Given the description of an element on the screen output the (x, y) to click on. 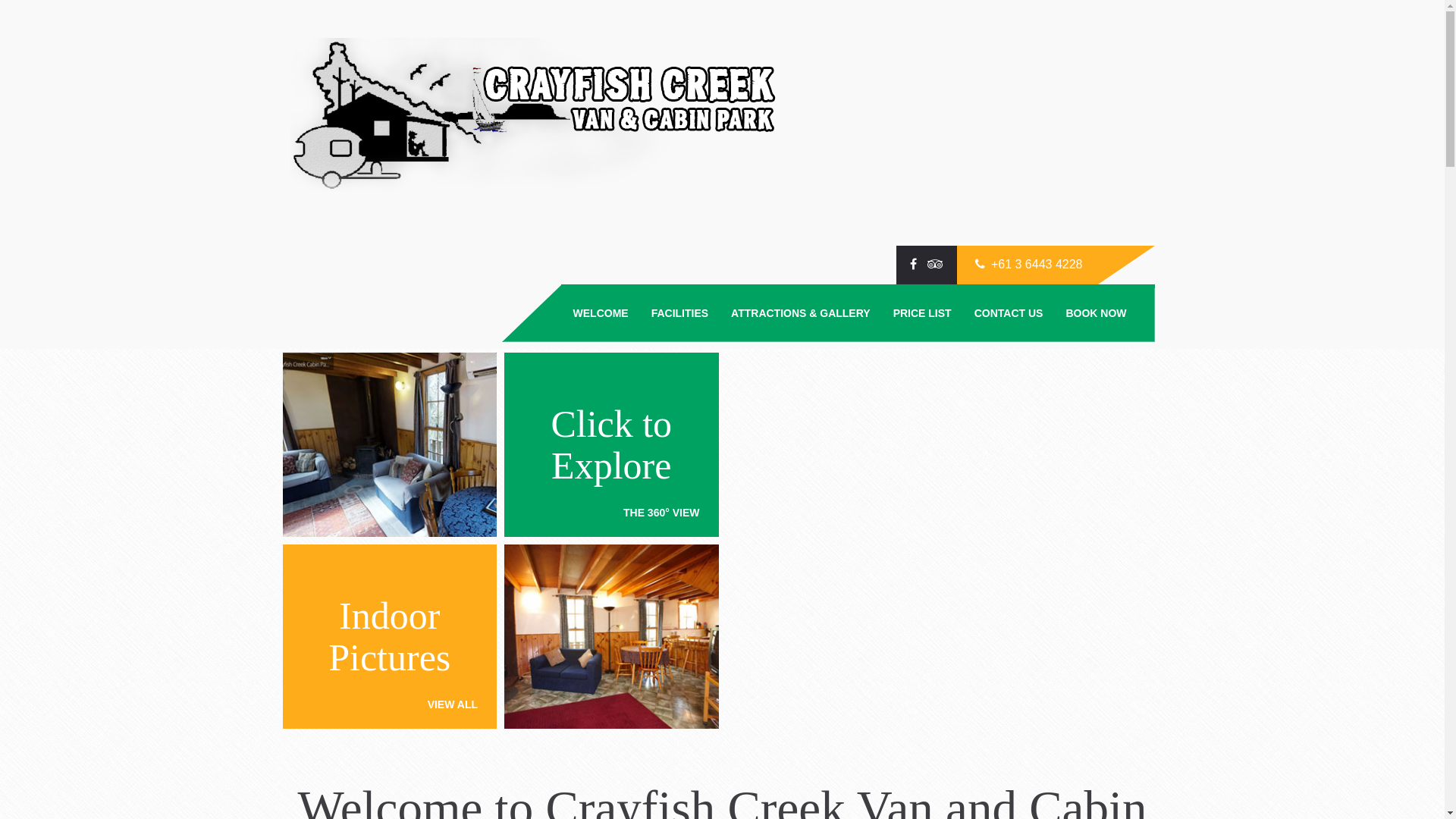
PRICE LIST Element type: text (922, 313)
WELCOME Element type: text (600, 313)
Indoor Pictures
VIEW ALL Element type: text (389, 636)
FACILITIES Element type: text (679, 313)
BOOK NOW Element type: text (1095, 313)
ATTRACTIONS & GALLERY Element type: text (800, 313)
CONTACT US Element type: text (1008, 313)
